Given the description of an element on the screen output the (x, y) to click on. 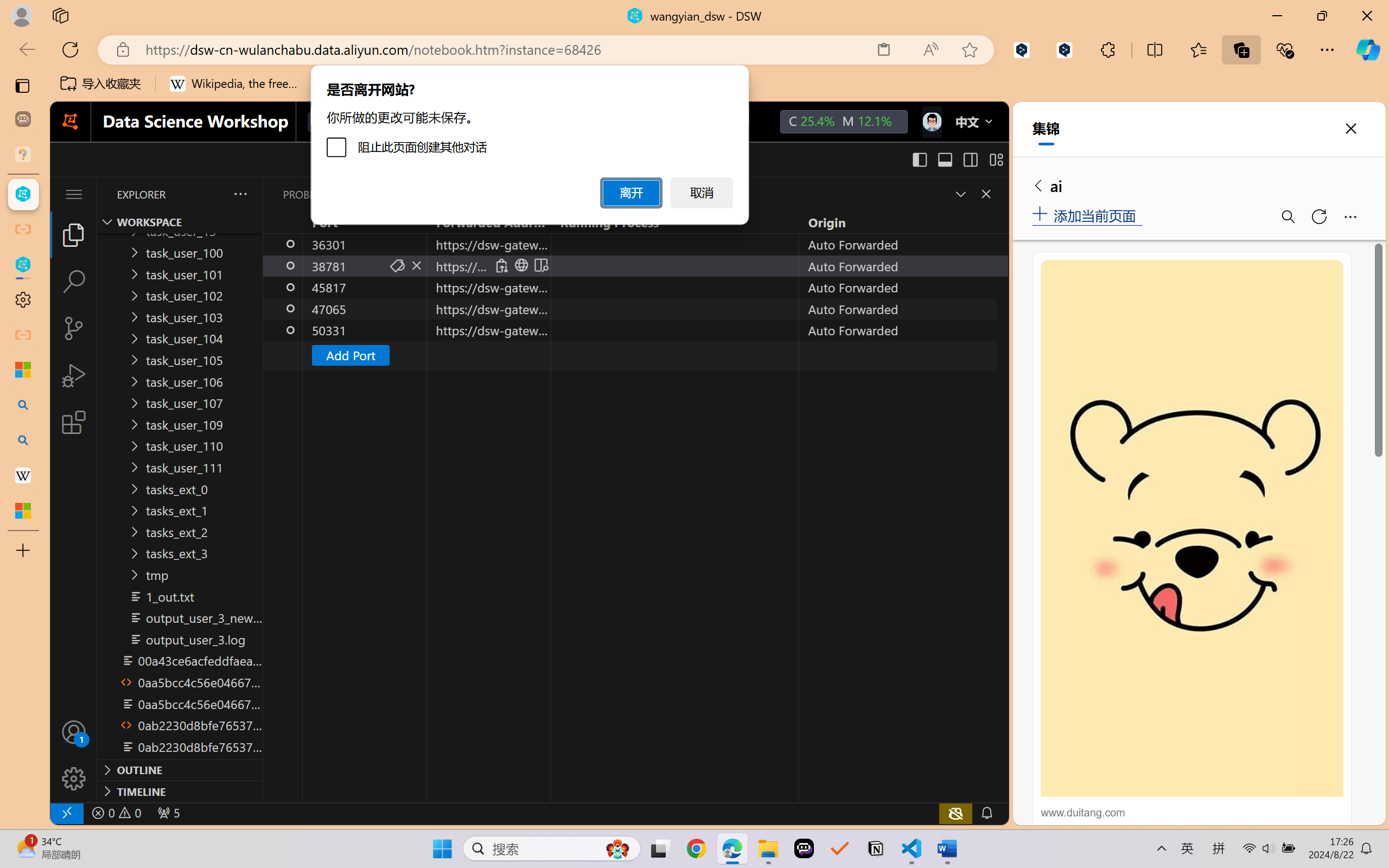
Timeline Section (179, 791)
Forwarded Ports: 36301, 47065, 38781, 45817, 50331 (167, 812)
Add Port (349, 354)
Notifications (986, 812)
Extensions (Ctrl+Shift+X) (73, 422)
Class: next-menu next-hoz widgets--iconMenu--BFkiHRM (930, 121)
Google Chrome (696, 848)
Title actions (957, 159)
icon (930, 121)
